Given the description of an element on the screen output the (x, y) to click on. 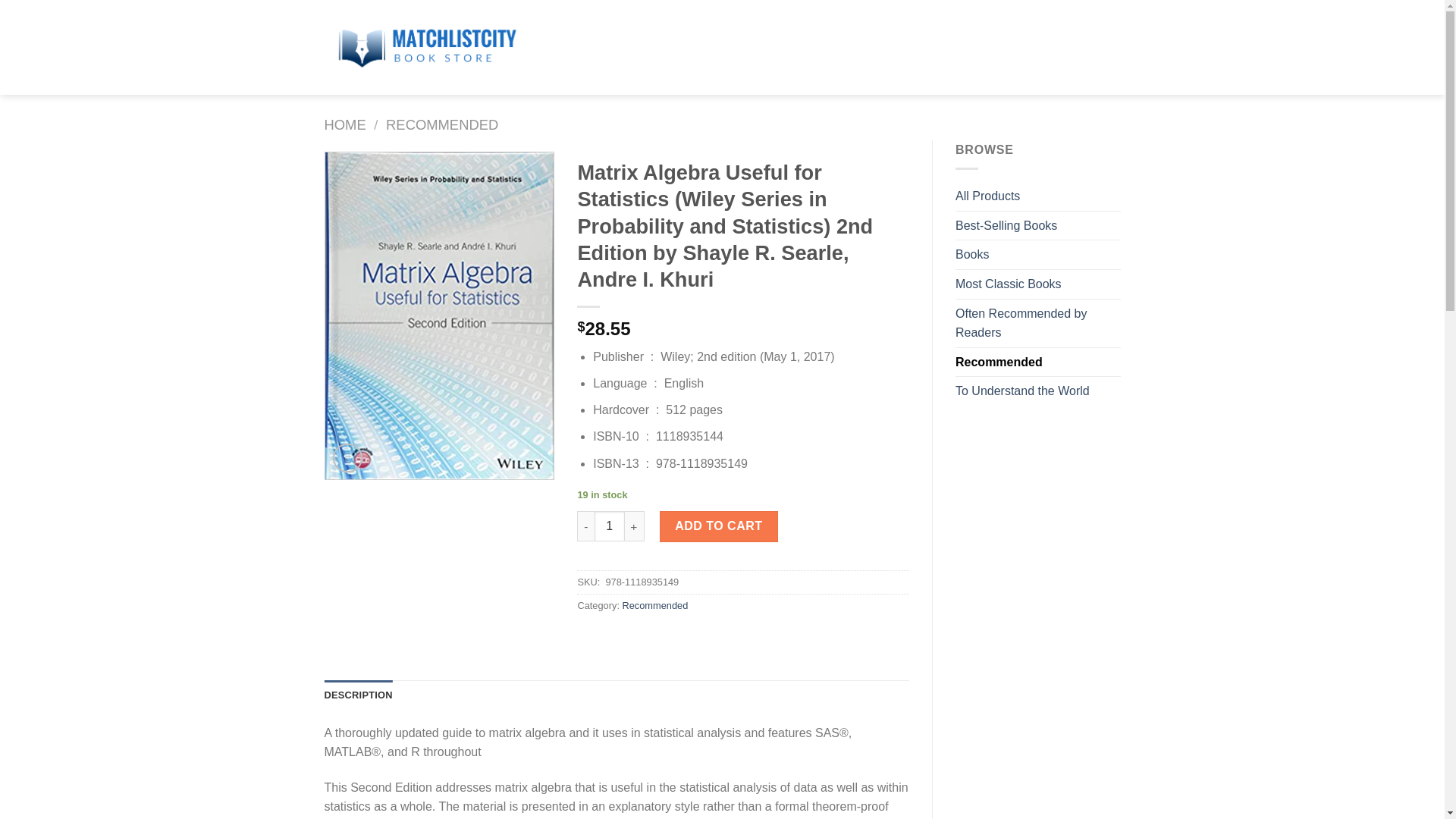
Most Classic Books (1038, 284)
Zoom (347, 458)
- (585, 526)
1 (609, 526)
HOME (570, 46)
Best-Selling Books (1038, 225)
DESCRIPTION (358, 695)
Recommended (654, 604)
ADD TO CART (718, 526)
All Products (1038, 195)
RECOMMENDED (441, 124)
HOME (345, 124)
To Understand the World (1038, 390)
Cart (1065, 47)
